Given the description of an element on the screen output the (x, y) to click on. 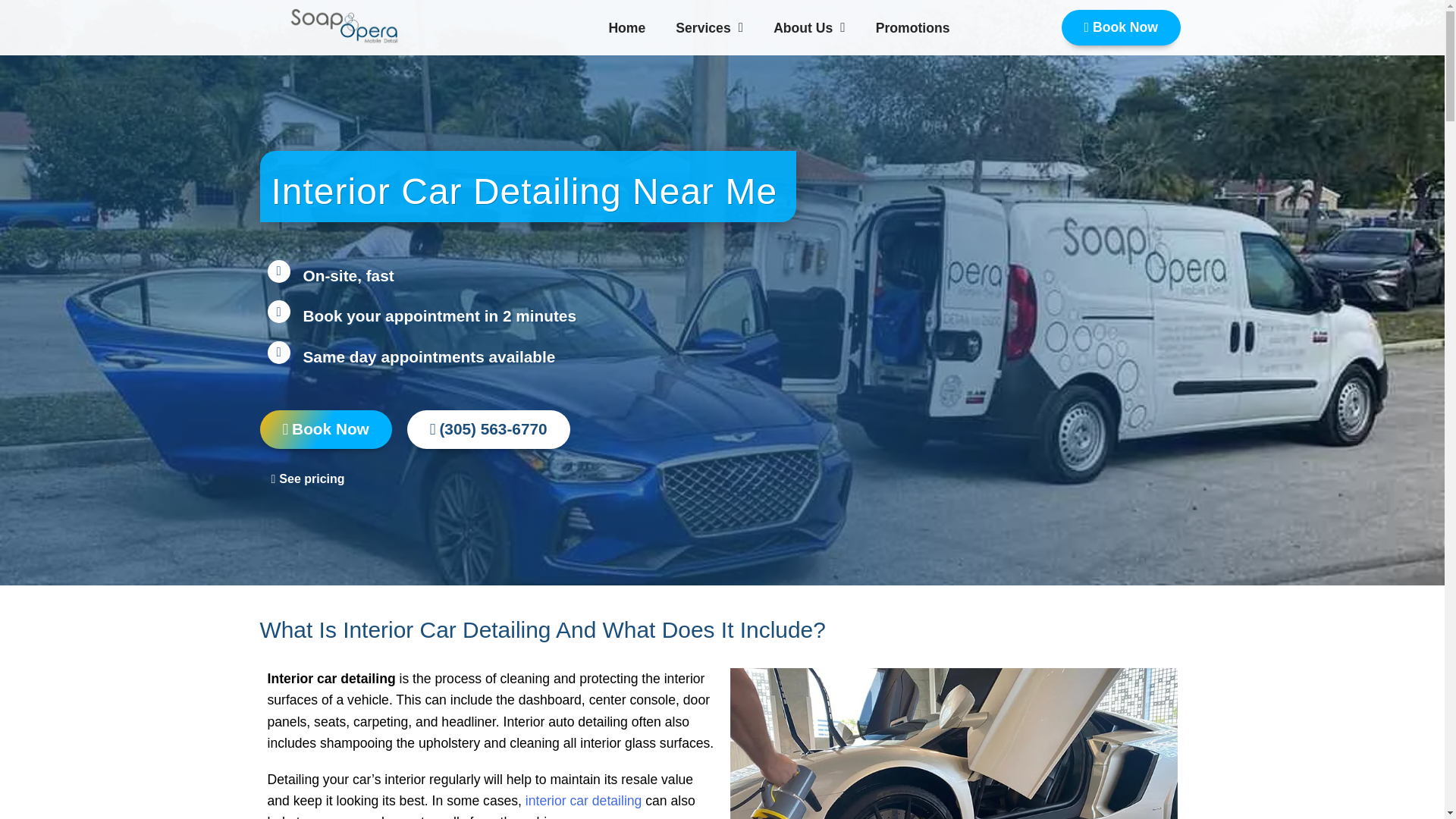
Services (708, 27)
See pricing (307, 479)
Home (626, 27)
Book Now (325, 430)
Book Now (1120, 27)
interior car detailing (583, 800)
Promotions (913, 27)
About Us (809, 27)
